Given the description of an element on the screen output the (x, y) to click on. 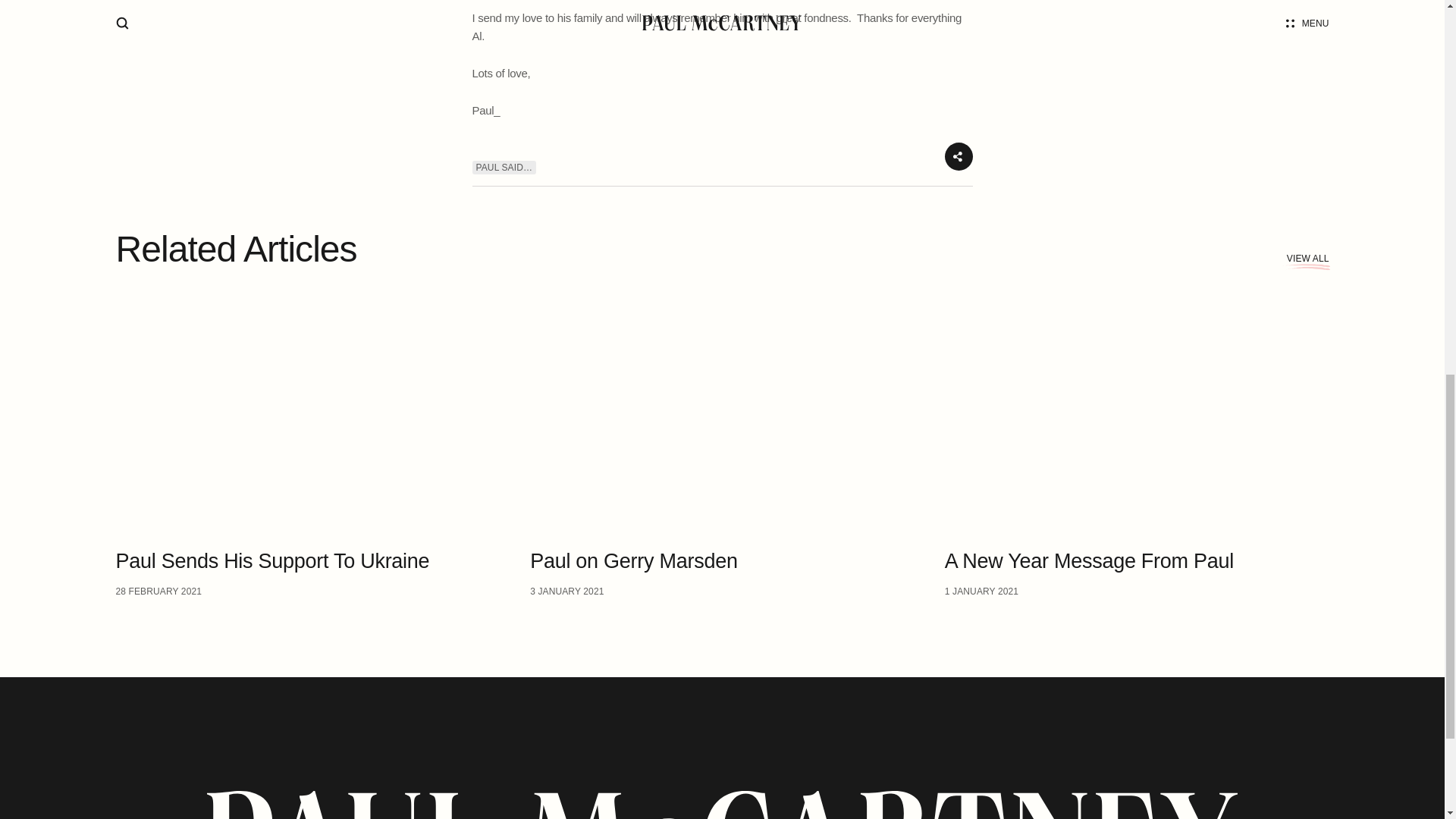
VIEW ALL (1136, 439)
